Given the description of an element on the screen output the (x, y) to click on. 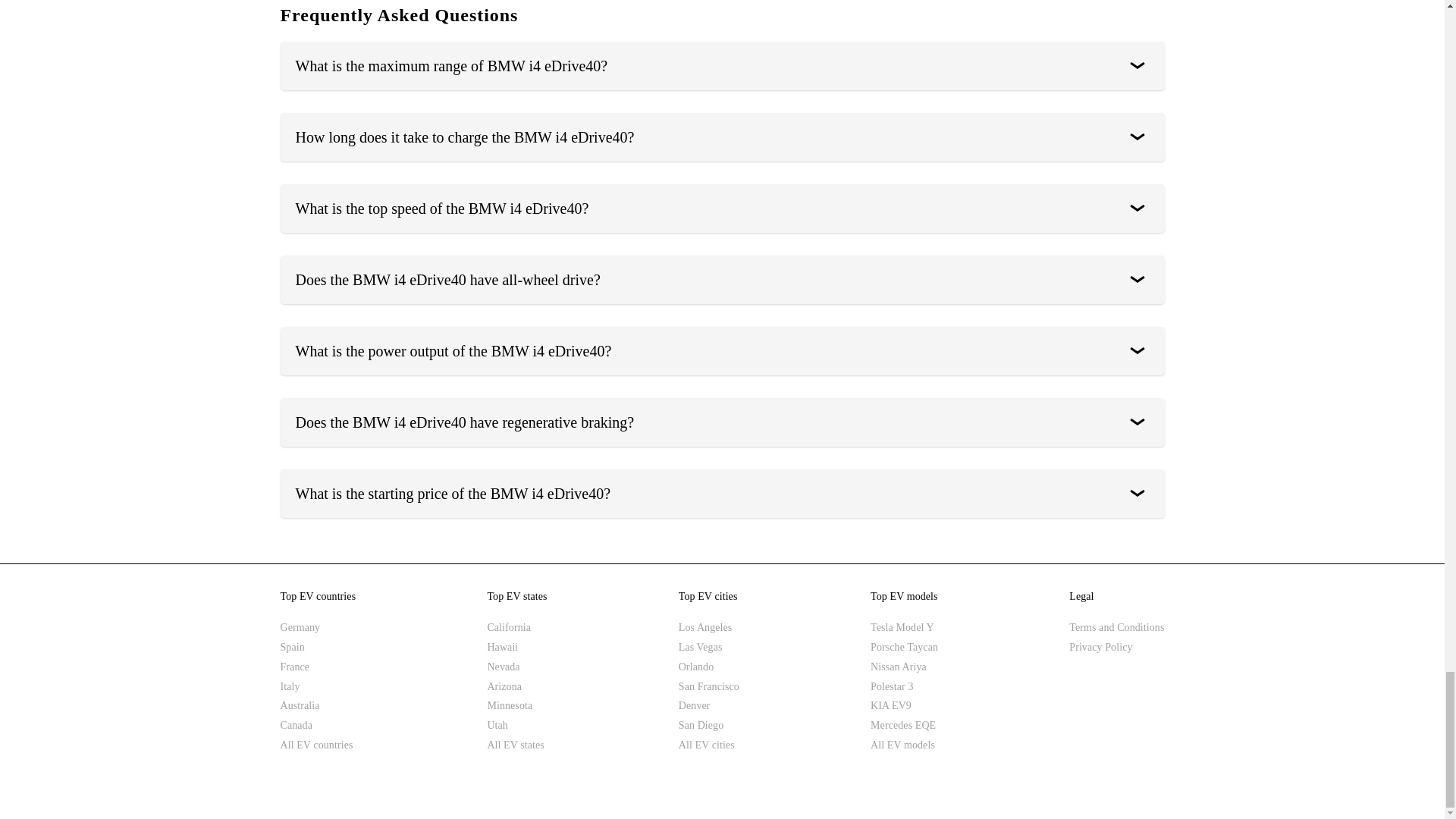
San Francisco (708, 686)
Canada (318, 725)
Hawaii (516, 647)
France (318, 667)
Germany (318, 628)
Los Angeles (708, 628)
California (516, 628)
France (318, 667)
Italy (318, 686)
Denver (708, 705)
Las Vegas (708, 647)
Germany (318, 628)
San Diego (708, 725)
Australia (318, 705)
All EV countries (318, 745)
